Given the description of an element on the screen output the (x, y) to click on. 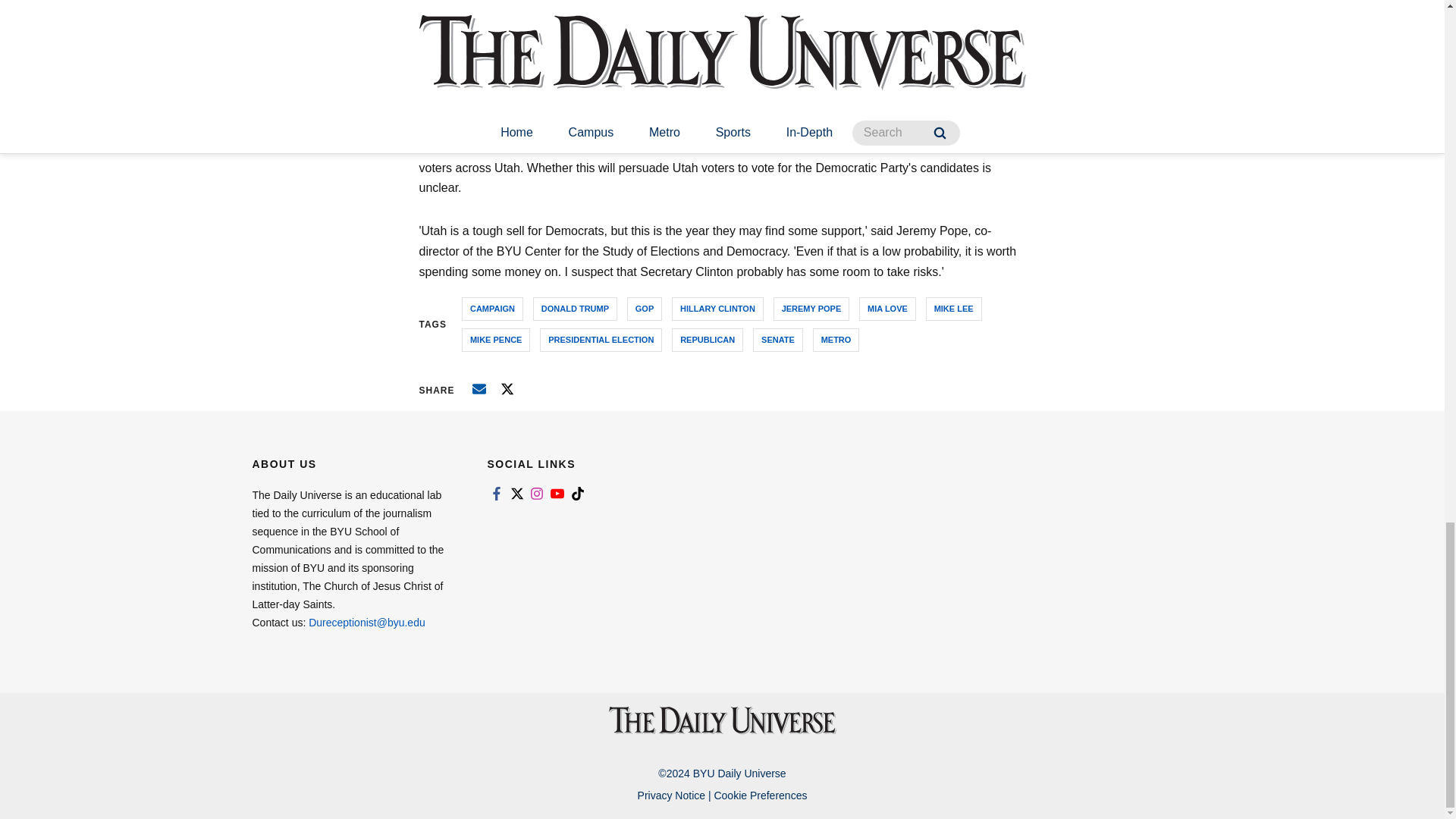
Privacy Notice (670, 795)
Link to facebook (495, 493)
MIKE PENCE (495, 340)
METRO (836, 340)
JEREMY POPE (811, 309)
PRESIDENTIAL ELECTION (601, 340)
Link to instagram (536, 493)
SENATE (777, 340)
HILLARY CLINTON (716, 309)
MIA LOVE (887, 309)
